Given the description of an element on the screen output the (x, y) to click on. 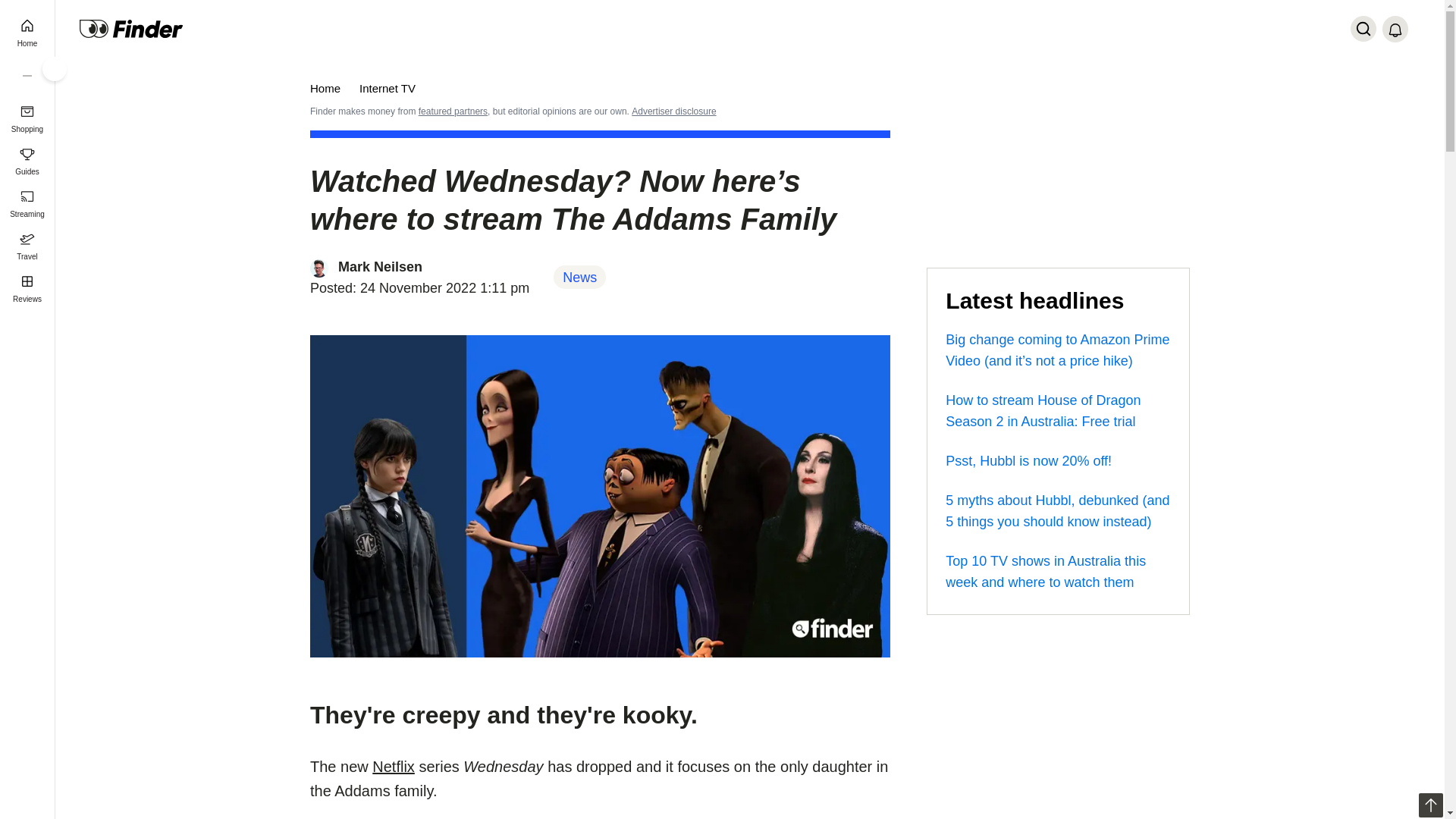
Back to Top (1430, 805)
Internet TV (386, 88)
Important information about this website (673, 110)
Advertiser disclosure (673, 110)
featured partners (453, 111)
Home (325, 88)
